Given the description of an element on the screen output the (x, y) to click on. 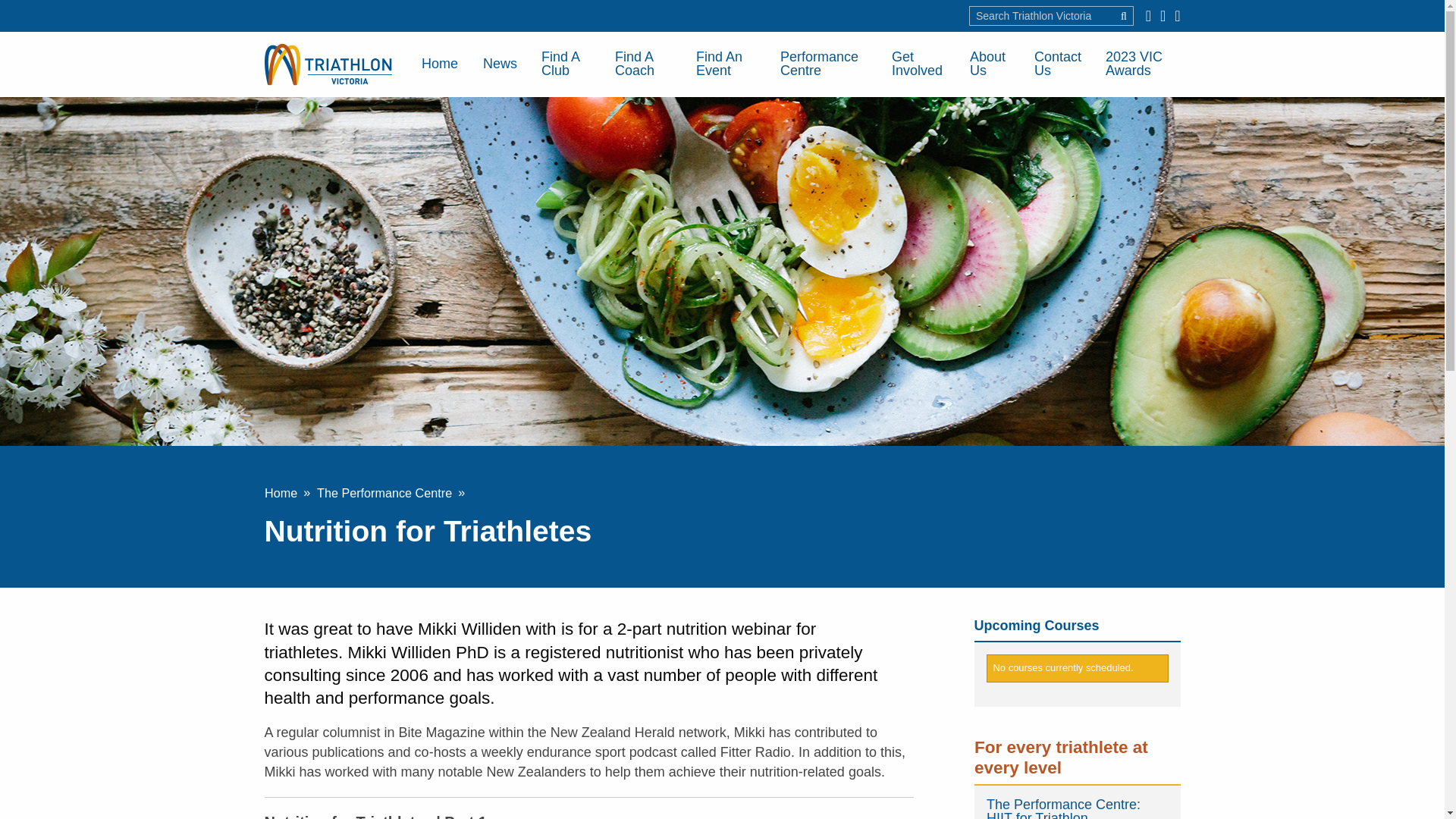
Home (440, 64)
Performance Centre (823, 63)
Find A Coach (643, 63)
Find An Event (725, 63)
Get Involved (917, 63)
Find A Club (566, 63)
